Given the description of an element on the screen output the (x, y) to click on. 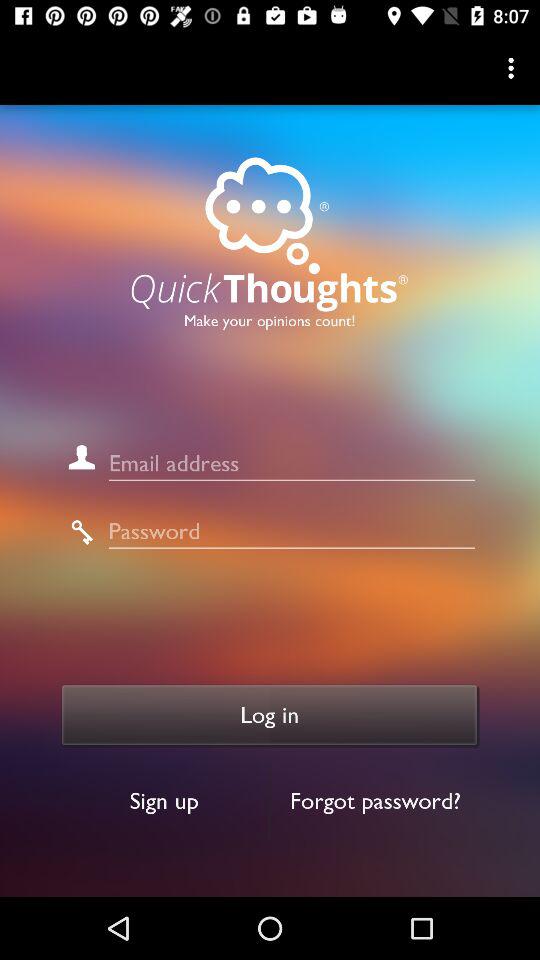
press item at the top right corner (513, 67)
